Given the description of an element on the screen output the (x, y) to click on. 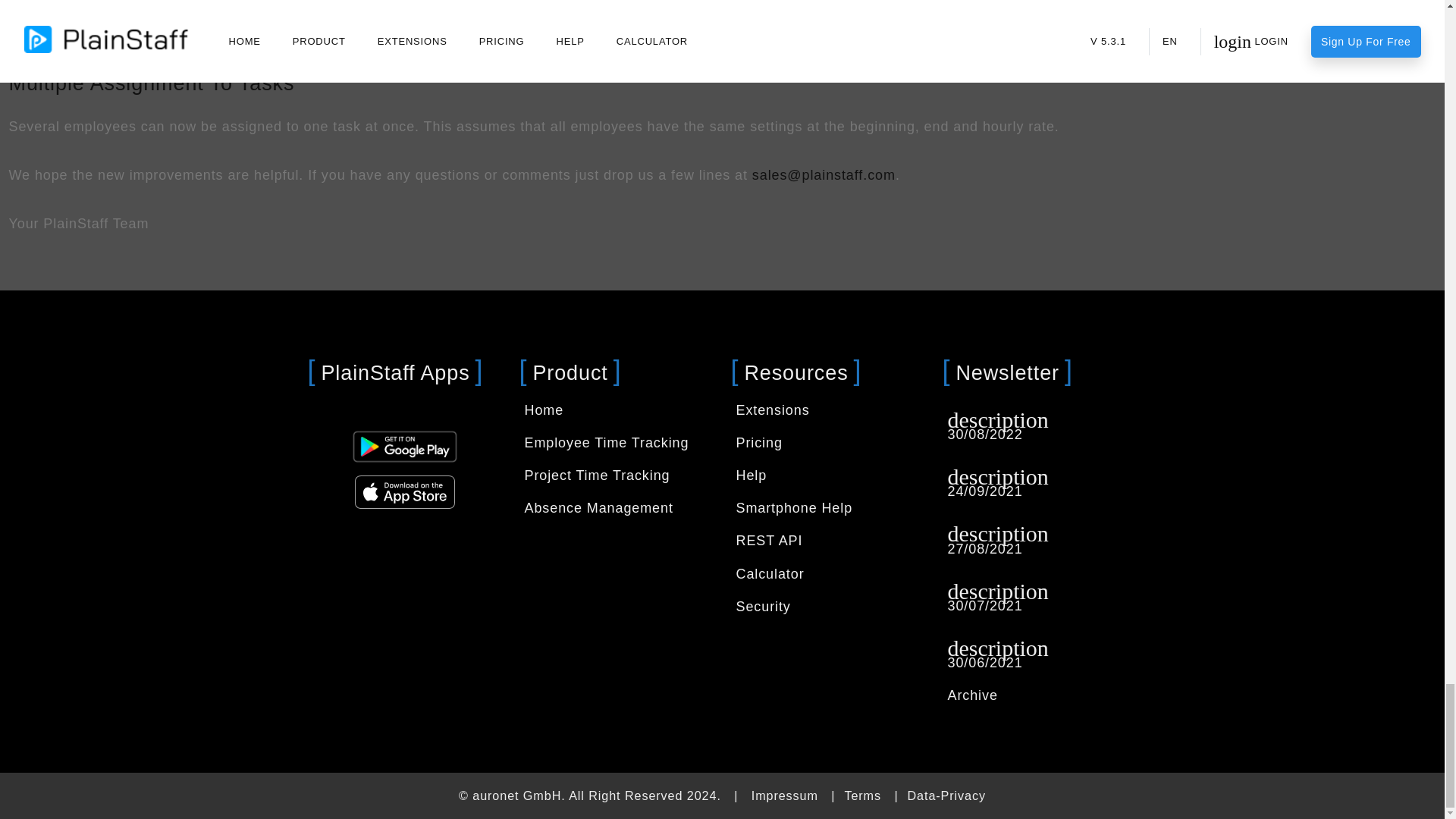
Absence Management (598, 507)
Calculator (769, 573)
Employee Time Tracking (606, 442)
Smartphone Help (793, 507)
Extensions (772, 409)
Home (544, 409)
Security (762, 606)
Project Time Tracking (596, 475)
Help (751, 475)
Pricing (758, 442)
REST API (768, 540)
